Given the description of an element on the screen output the (x, y) to click on. 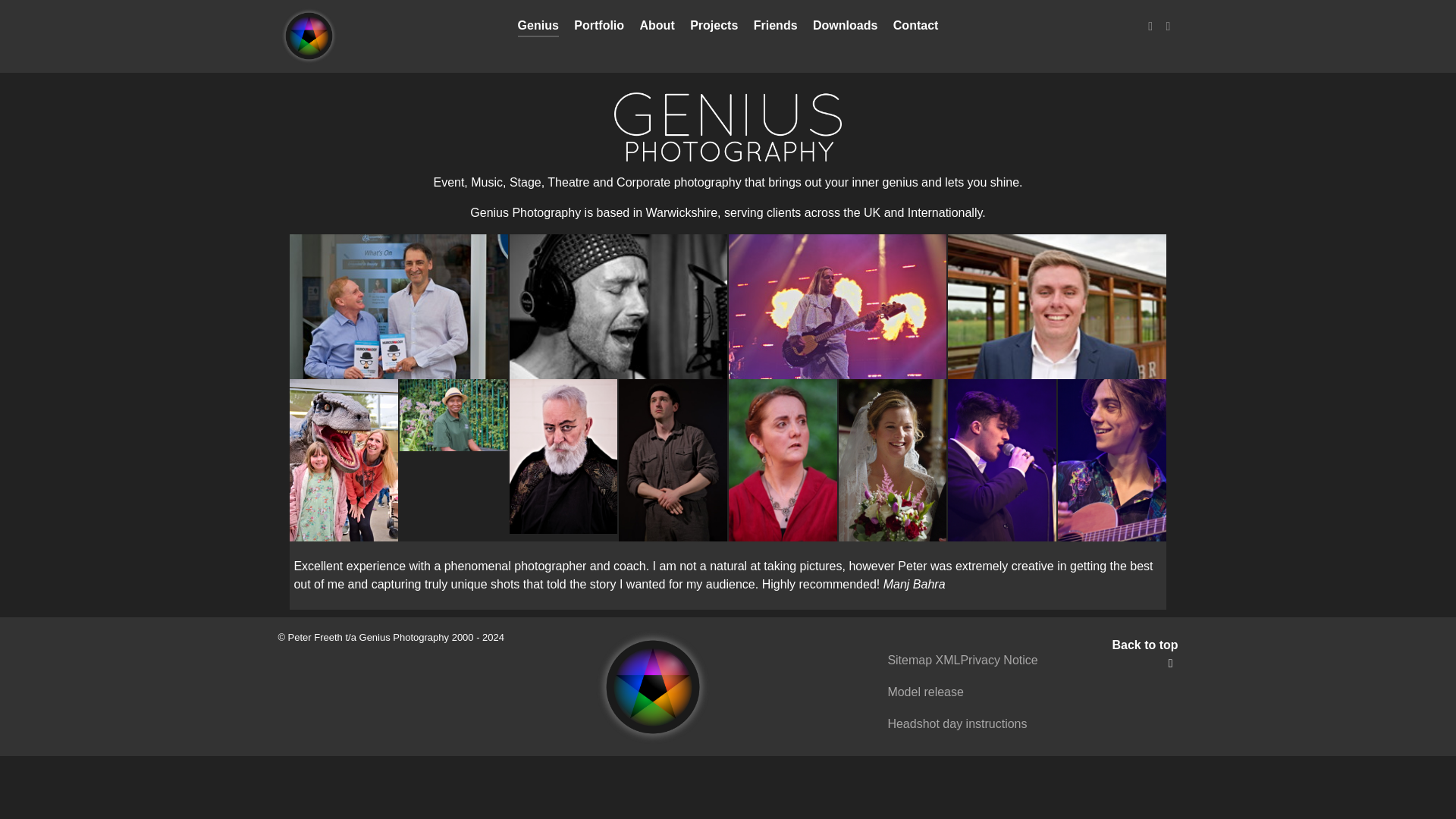
Downloads (844, 27)
Friends (775, 27)
Contact (916, 27)
Back to top (1144, 653)
About (657, 27)
Portfolio (598, 27)
Genius (538, 27)
Projects (714, 27)
